Given the description of an element on the screen output the (x, y) to click on. 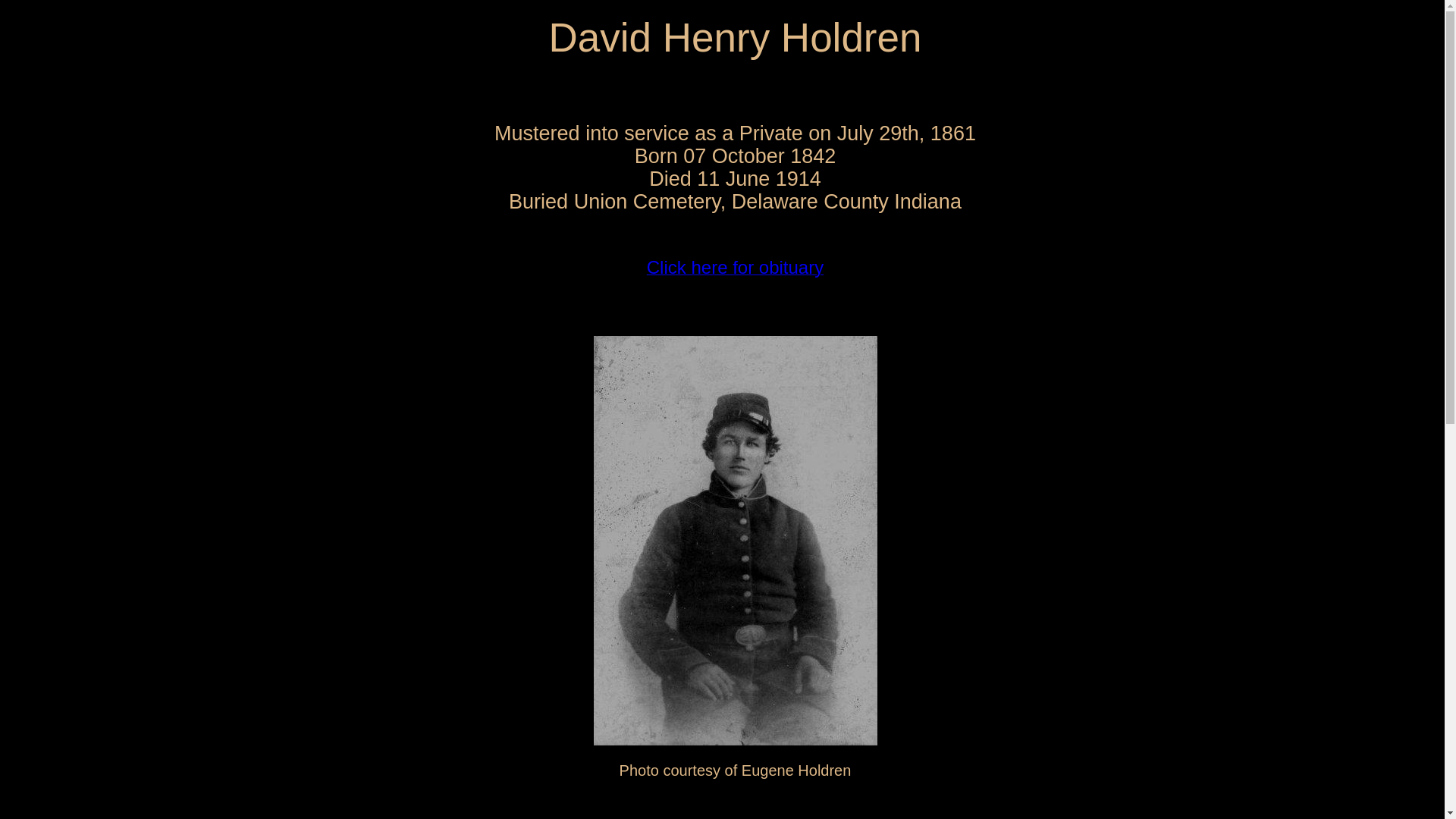
Click here for obituary (735, 270)
